Given the description of an element on the screen output the (x, y) to click on. 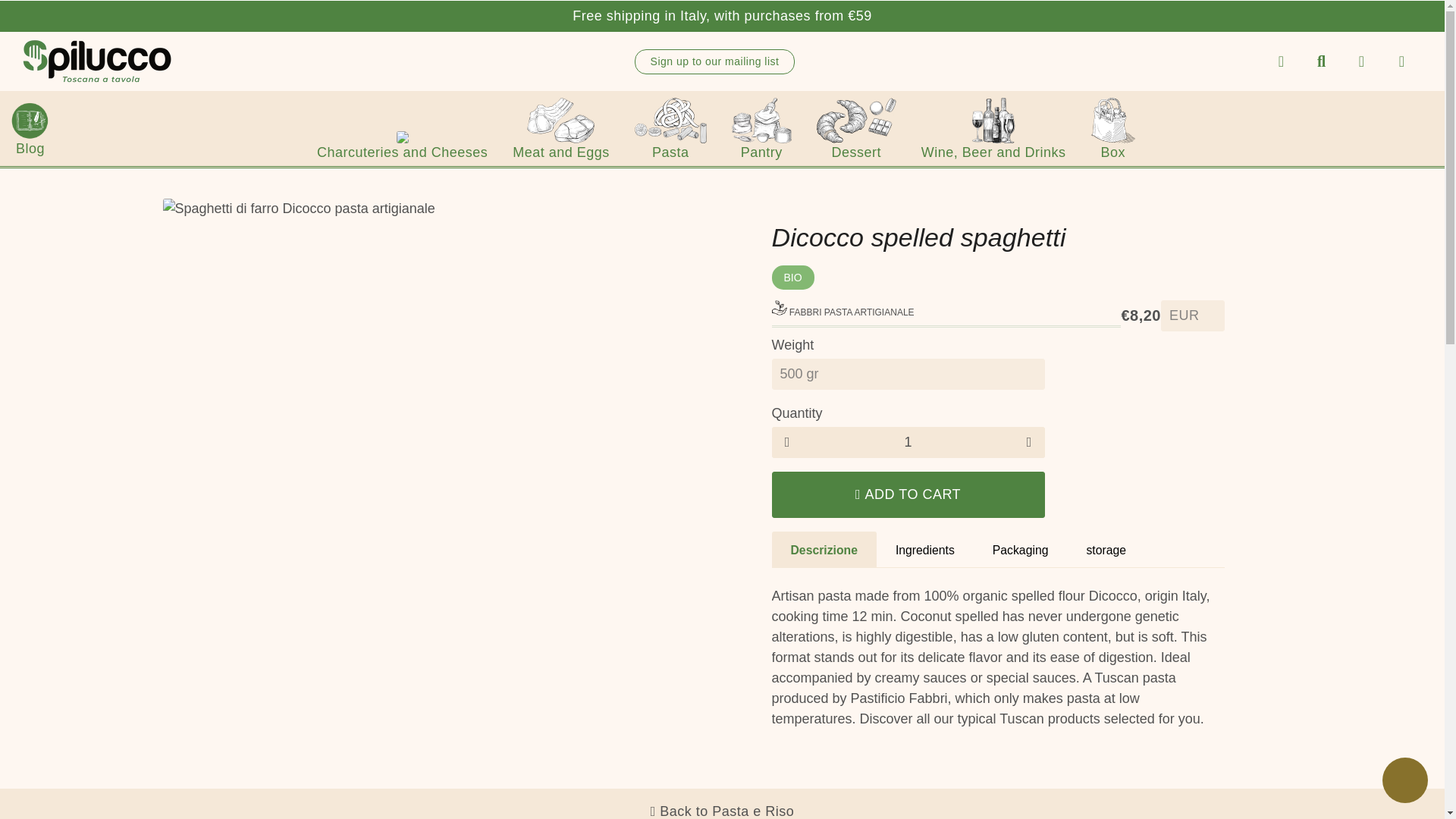
Sign up to our mailing list (714, 60)
Cart (1402, 61)
Search (1321, 61)
Shopify online store chat (1404, 781)
Wine, Beer and Drinks (993, 128)
1 (908, 441)
Spilucco (97, 61)
Dessert (855, 128)
home (1281, 61)
FABBRI PASTA ARTIGIANALE (842, 312)
